Given the description of an element on the screen output the (x, y) to click on. 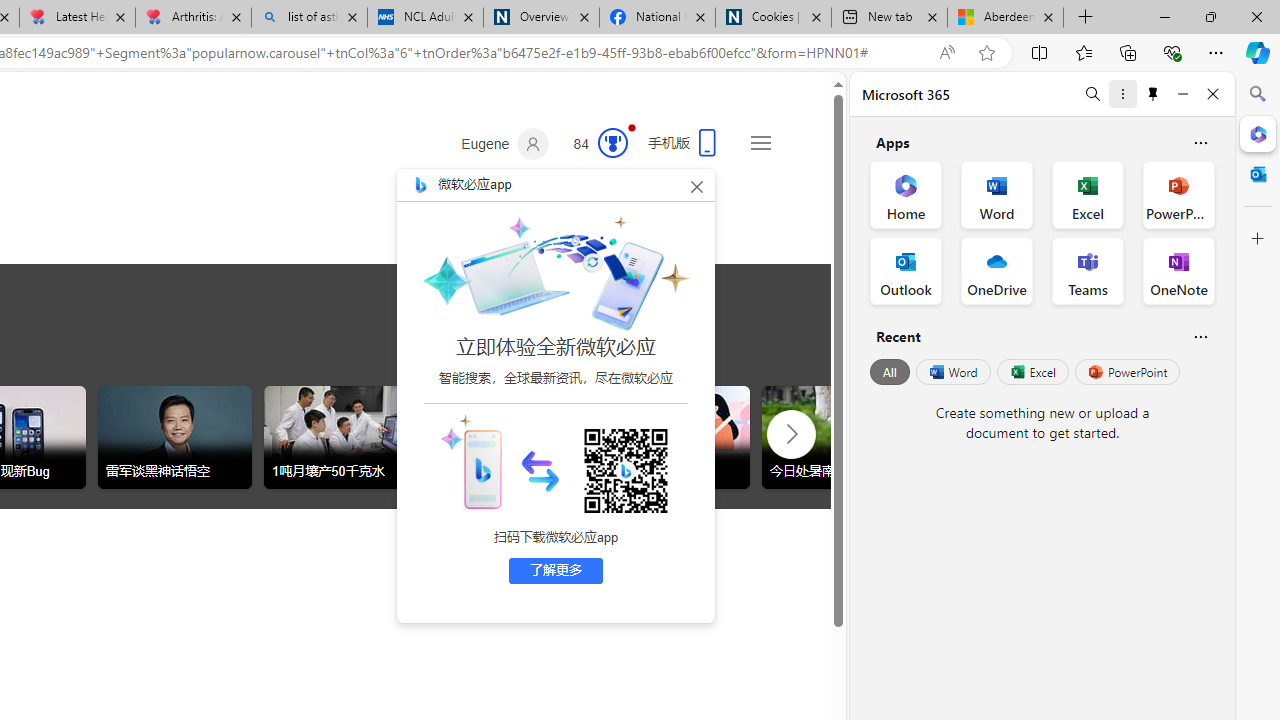
PowerPoint Office App (1178, 194)
All (890, 372)
AutomationID: serp_medal_svg (612, 142)
